Given the description of an element on the screen output the (x, y) to click on. 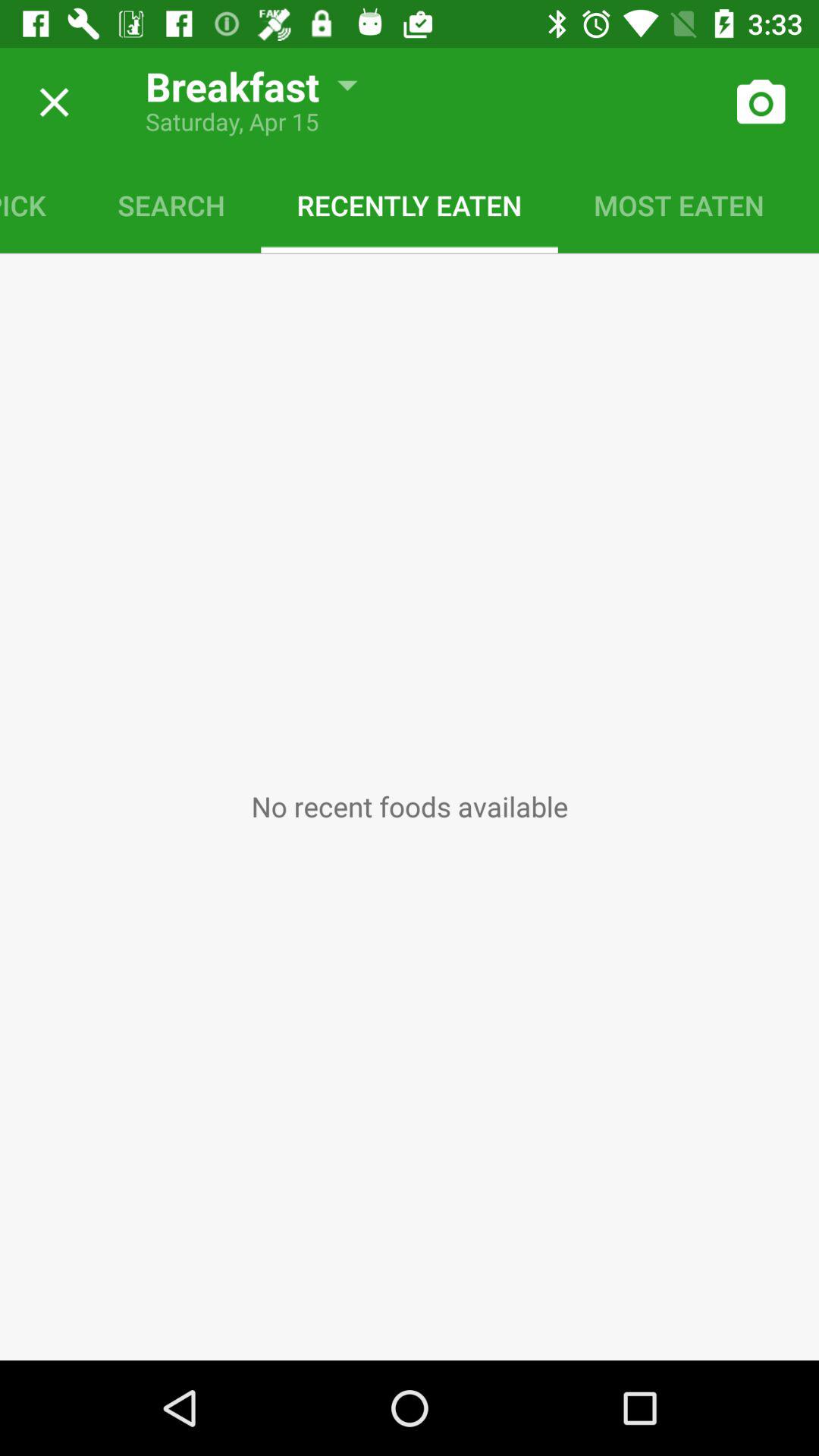
select icon next to the breakfast (48, 102)
